Given the description of an element on the screen output the (x, y) to click on. 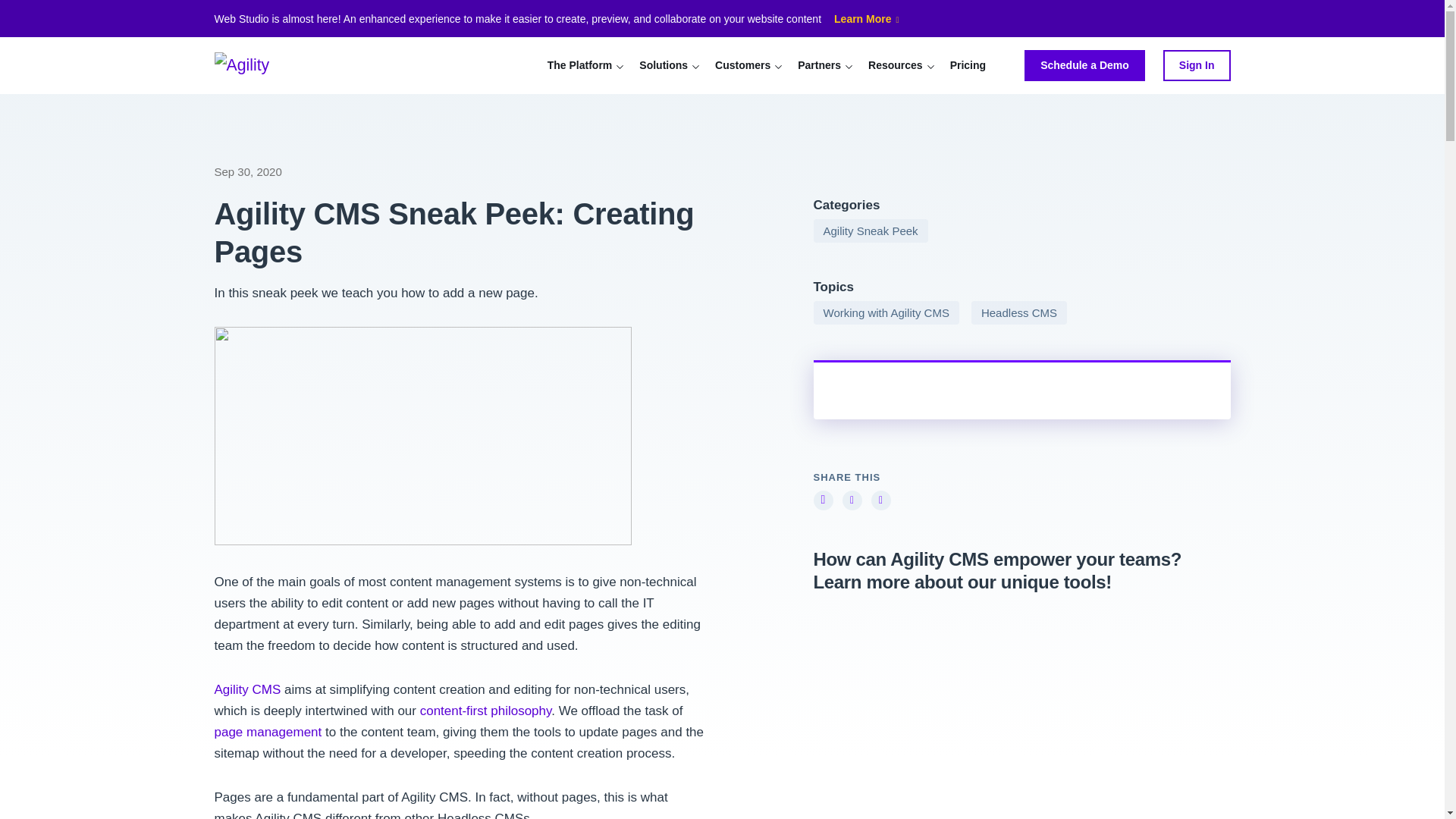
Solutions (663, 65)
Learn More (866, 19)
The Platform (580, 65)
Customers (742, 65)
Agility (267, 64)
Partners (819, 65)
Resources (895, 65)
